Given the description of an element on the screen output the (x, y) to click on. 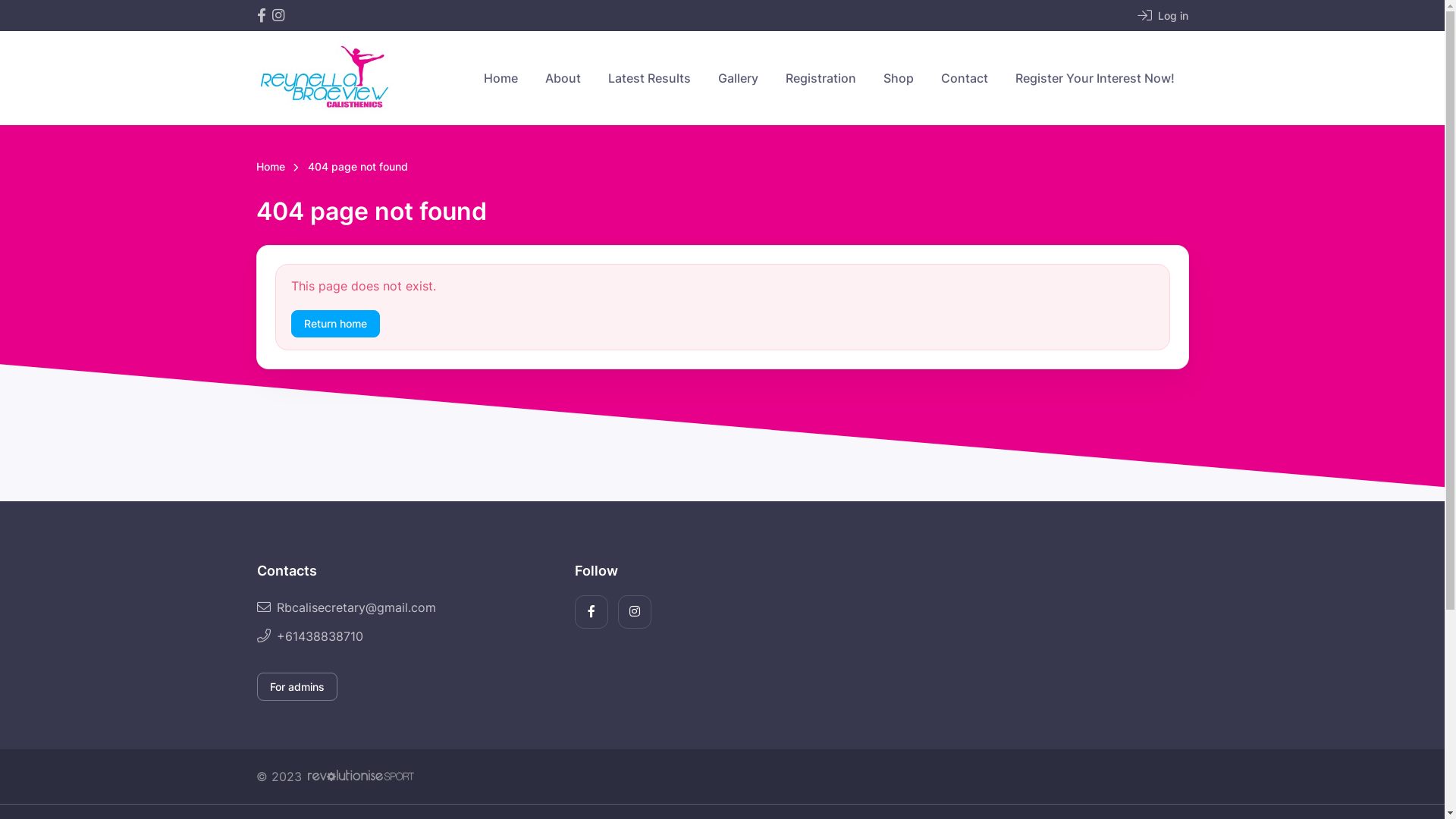
For admins Element type: text (296, 686)
Home Element type: text (270, 167)
Reynella Braeview School of Calisthenics Inc on Facebook Element type: hover (260, 15)
About Element type: text (561, 77)
Log in Element type: text (1167, 15)
+61438838710 Element type: text (403, 636)
Contact Element type: text (963, 77)
Return home Element type: text (335, 323)
Gallery Element type: text (737, 77)
Reynella Braeview School of Calisthenics Inc on Instagram Element type: hover (277, 15)
Latest Results Element type: text (649, 77)
Rbcalisecretary@gmail.com Element type: text (403, 607)
Shop Element type: text (897, 77)
Registration Element type: text (820, 77)
Register Your Interest Now! Element type: text (1094, 77)
Home Element type: text (500, 77)
